Given the description of an element on the screen output the (x, y) to click on. 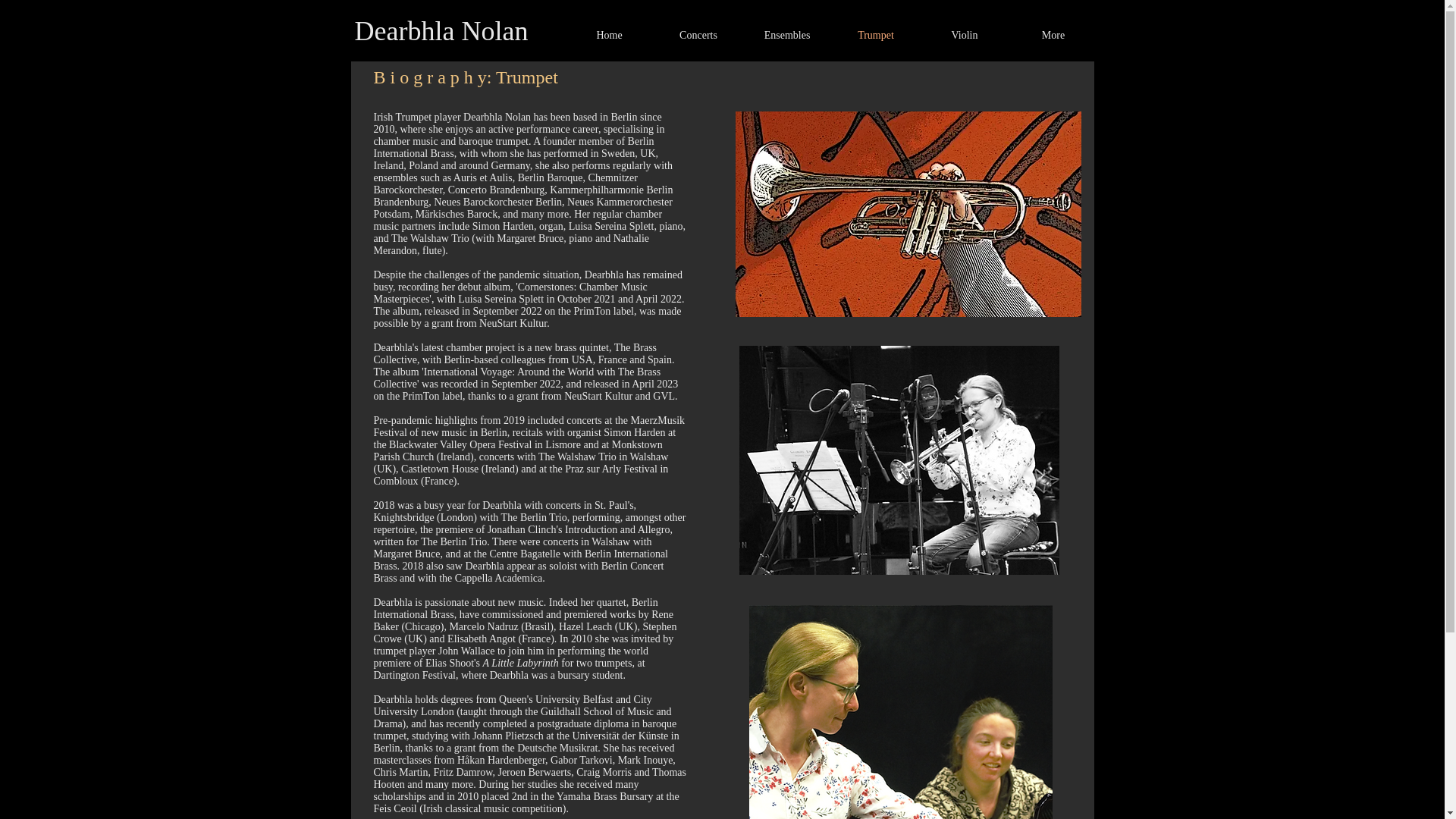
Concerts (697, 35)
Ensembles (786, 35)
Trumpet (875, 35)
Dearbhla Nolan, Berliner Kunst-Musik (900, 712)
Dearbhla Nolan, Trumpet, Berlin (908, 213)
Home (608, 35)
Dearbhla Nolan, Berliner Kunst-Musik (898, 459)
Violin (964, 35)
